Given the description of an element on the screen output the (x, y) to click on. 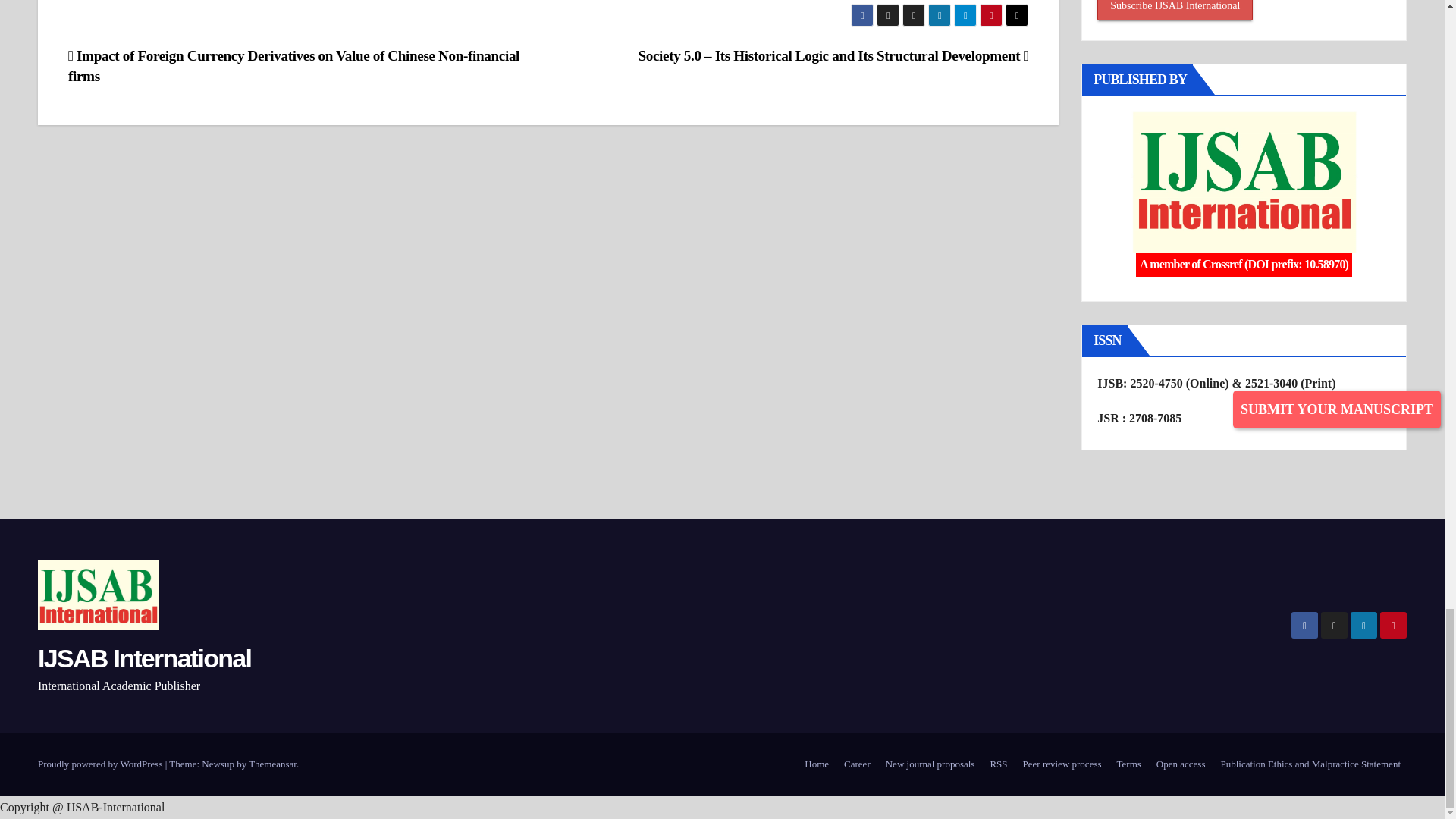
Subscribe IJSAB International (1174, 10)
